Given the description of an element on the screen output the (x, y) to click on. 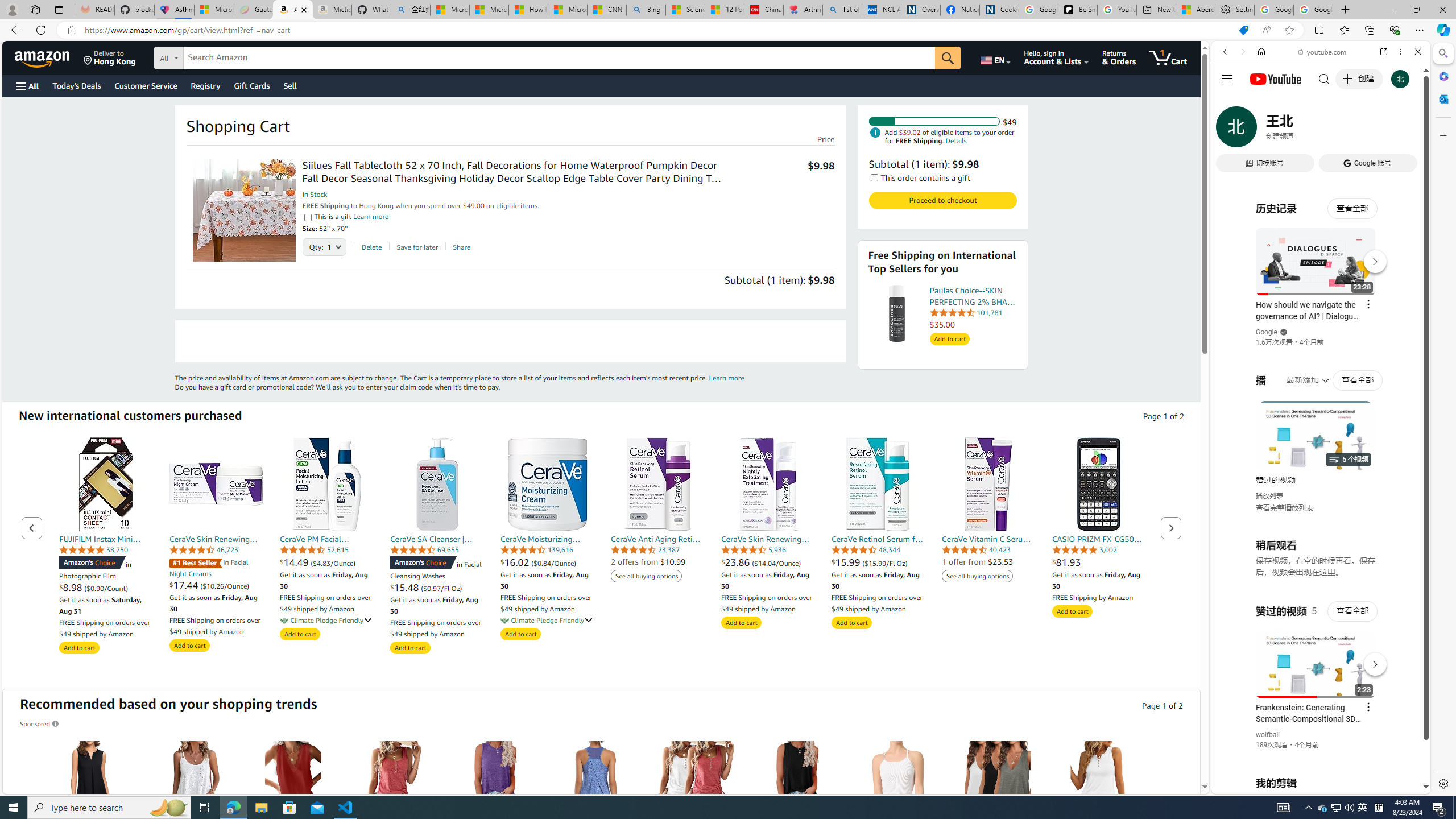
($14.04/Ounce) (775, 562)
1 item in cart (1168, 57)
Choose a language for shopping. (995, 57)
